Given the description of an element on the screen output the (x, y) to click on. 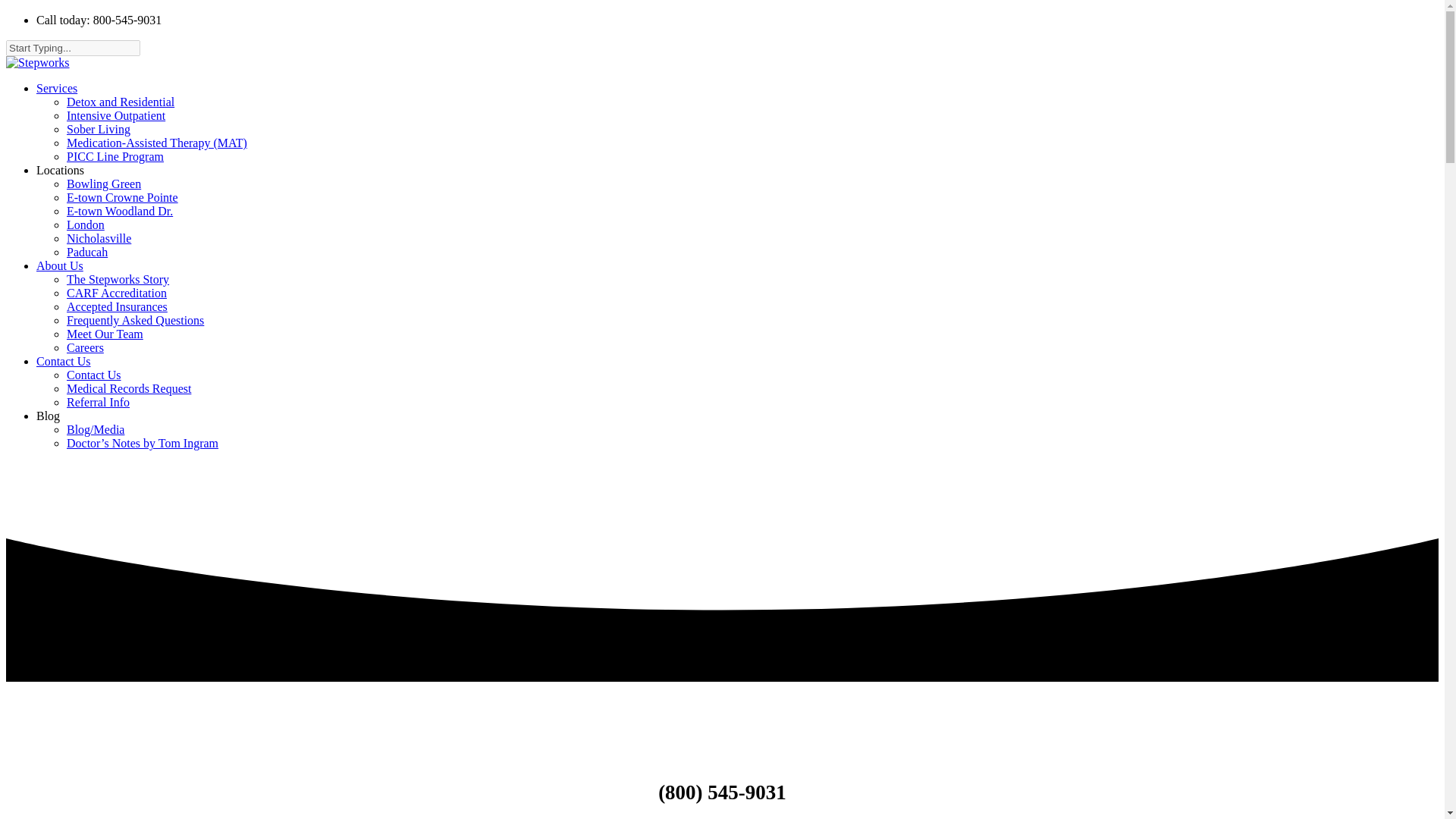
Locations (60, 169)
Contact Us (93, 374)
Nicholasville (98, 237)
Bowling Green (103, 183)
About Us (59, 265)
Blog (47, 415)
Contact Us (63, 360)
Detox and Residential (120, 101)
Medical Records Request (128, 388)
Accepted Insurances (116, 306)
